Given the description of an element on the screen output the (x, y) to click on. 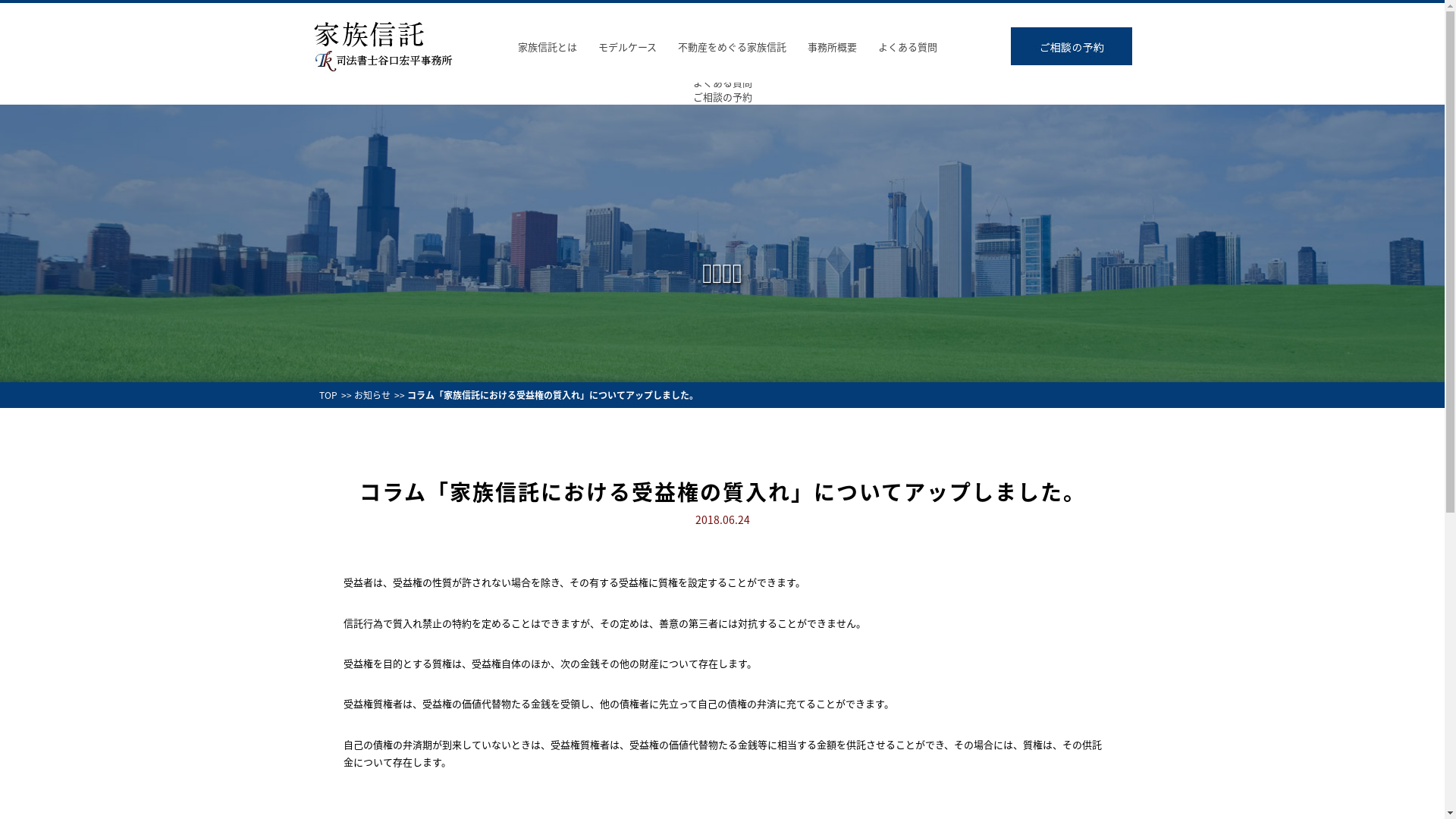
TOP Element type: text (327, 394)
